Given the description of an element on the screen output the (x, y) to click on. 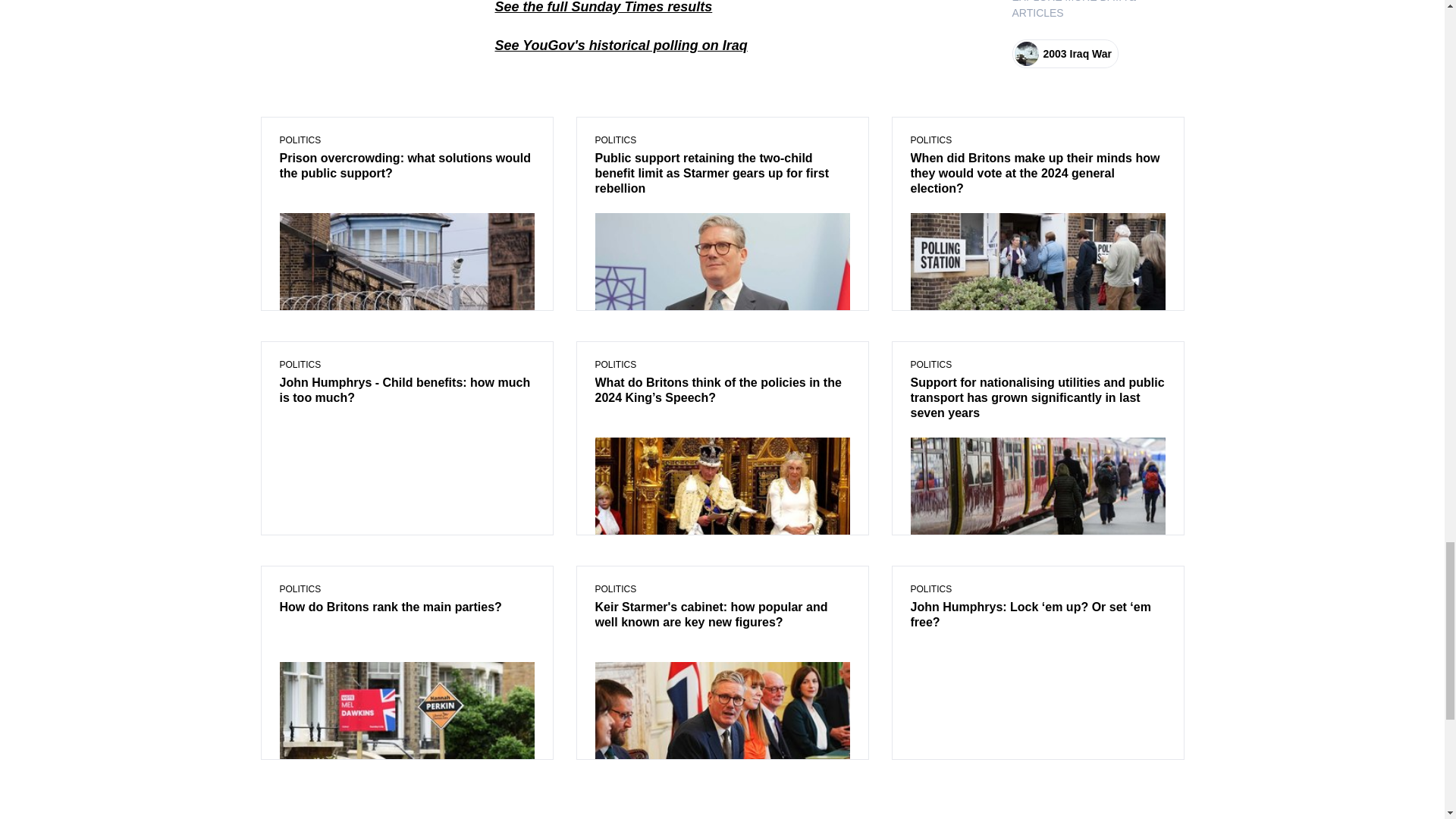
John Humphrys - Child benefits: how much is too much? (406, 391)
How do Britons rank the main parties? (406, 607)
